Given the description of an element on the screen output the (x, y) to click on. 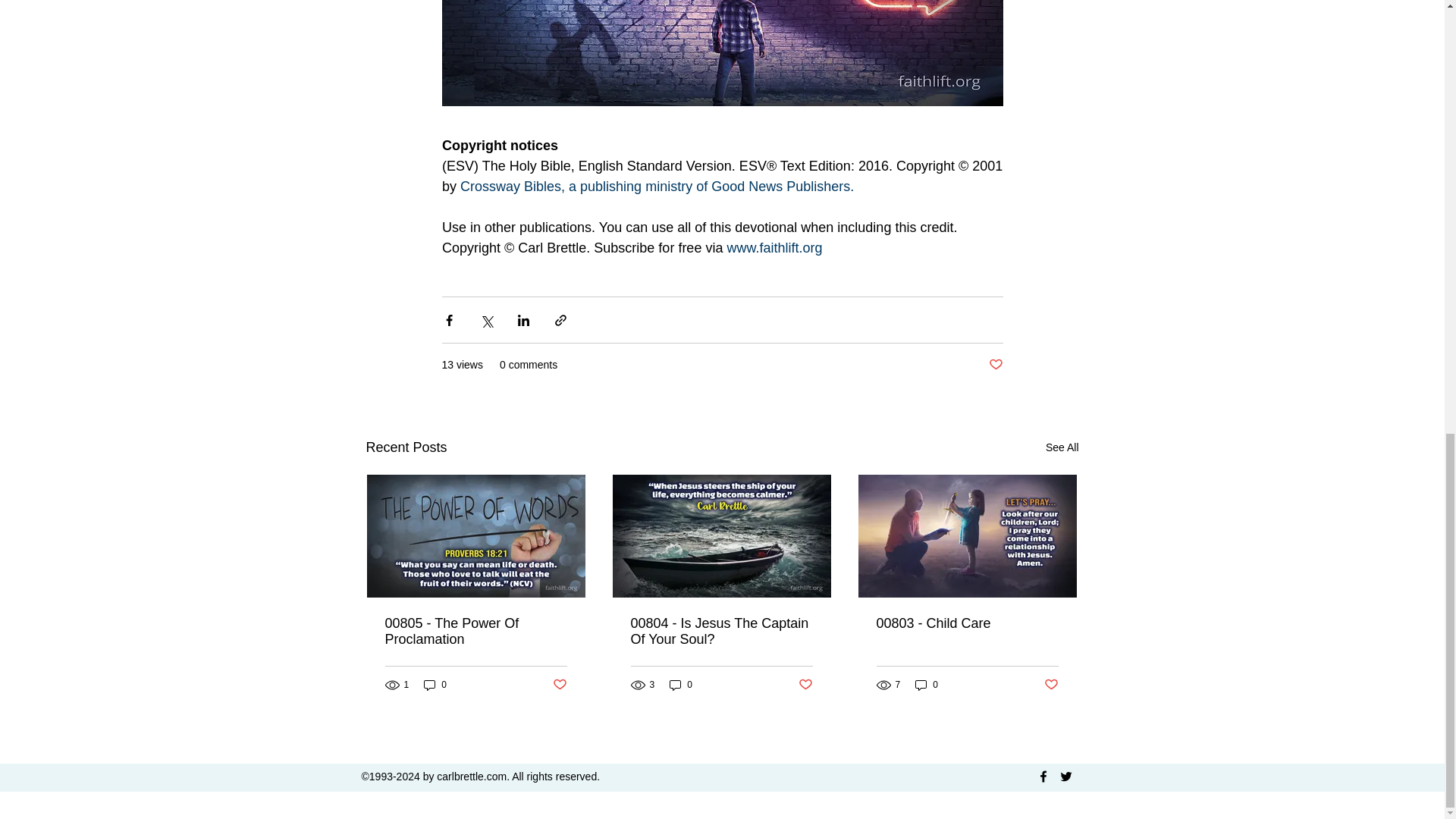
Post not marked as liked (804, 684)
Post not marked as liked (1050, 684)
00805 - The Power Of Proclamation (476, 631)
Post not marked as liked (995, 365)
Post not marked as liked (558, 684)
0 (681, 685)
www.faithlift.org (774, 247)
See All (1061, 447)
00803 - Child Care (967, 623)
